Given the description of an element on the screen output the (x, y) to click on. 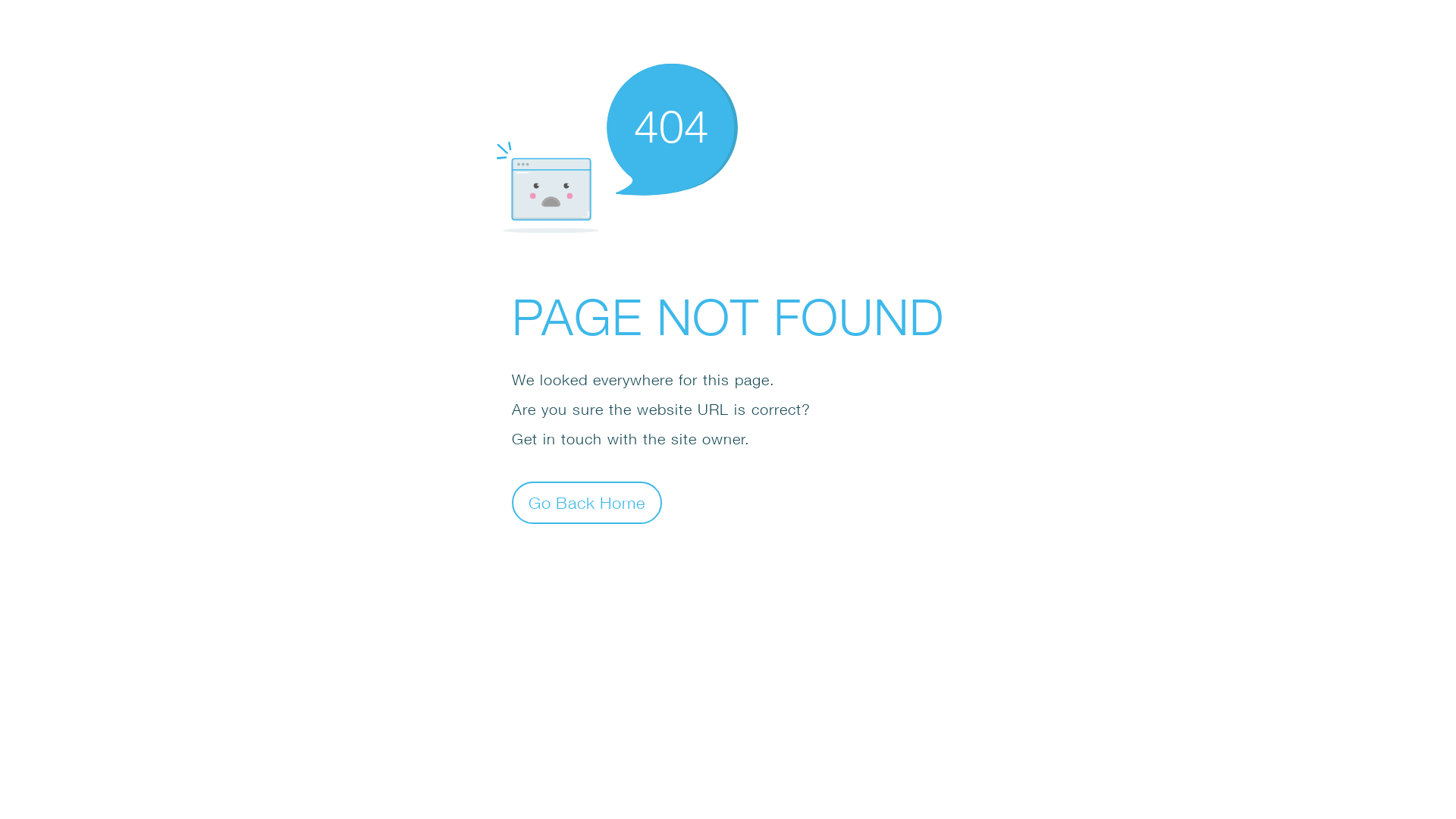
Go Back Home Element type: text (586, 502)
